Given the description of an element on the screen output the (x, y) to click on. 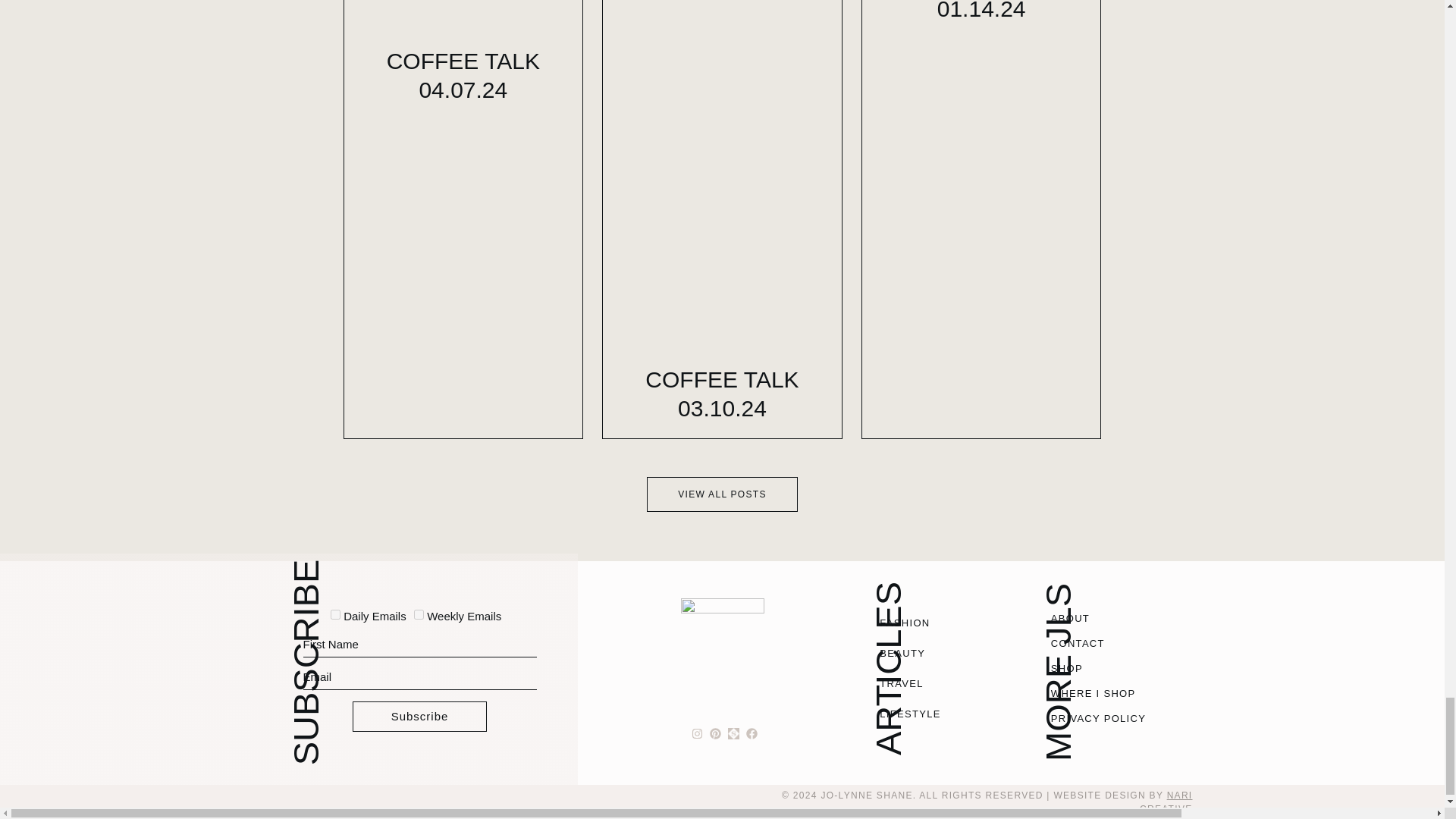
Weekly Emails (418, 614)
Daily Emails (335, 614)
